Given the description of an element on the screen output the (x, y) to click on. 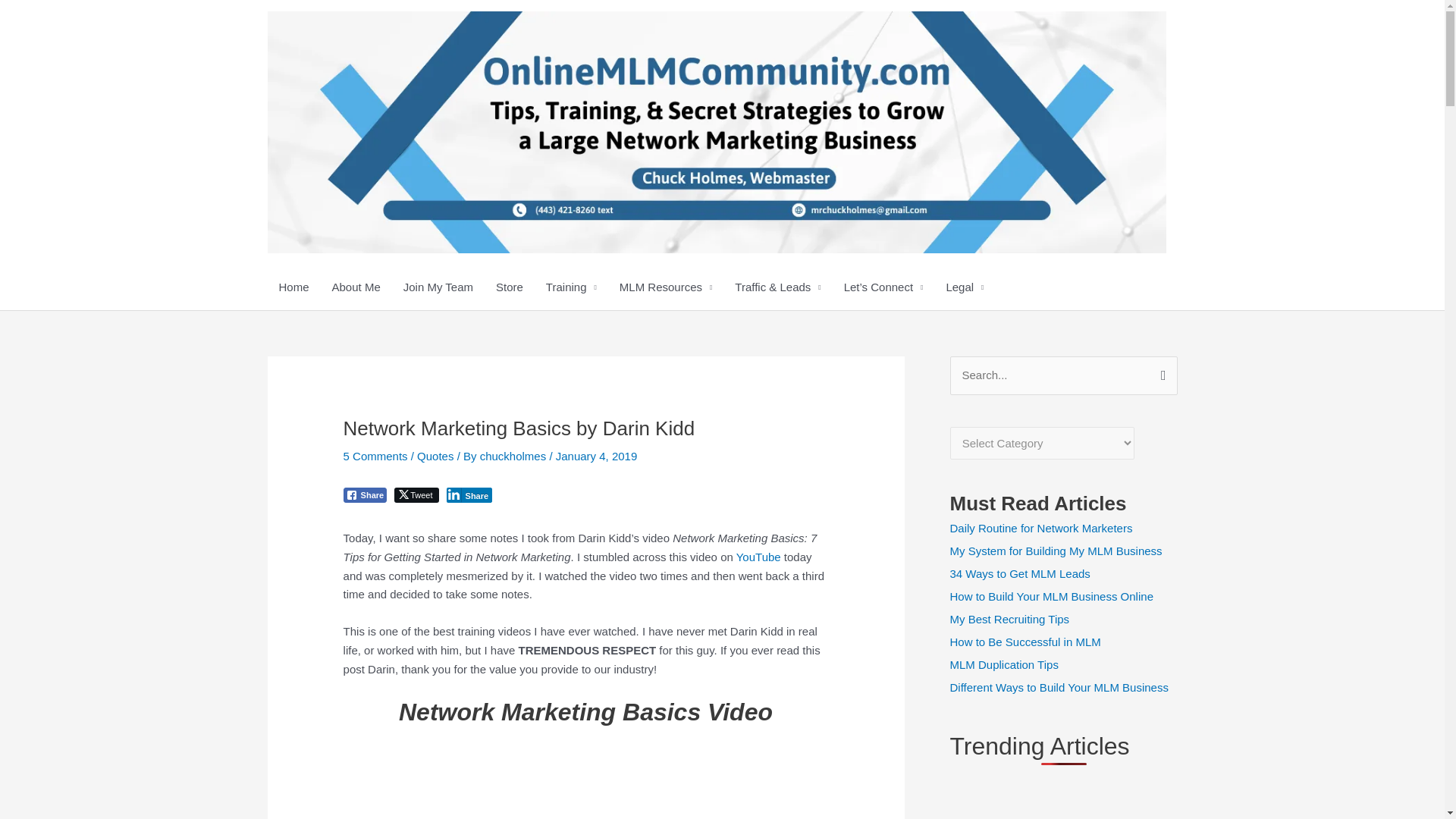
Search (1159, 376)
Home (293, 287)
About Me (355, 287)
View all posts by chuckholmes (515, 455)
Share (469, 494)
5 Comments (375, 455)
Tweet (416, 494)
Legal (964, 287)
Training (571, 287)
Search (1159, 376)
Store (509, 287)
Join My Team (437, 287)
Quotes (434, 455)
Share (365, 494)
MLM Resources (665, 287)
